Given the description of an element on the screen output the (x, y) to click on. 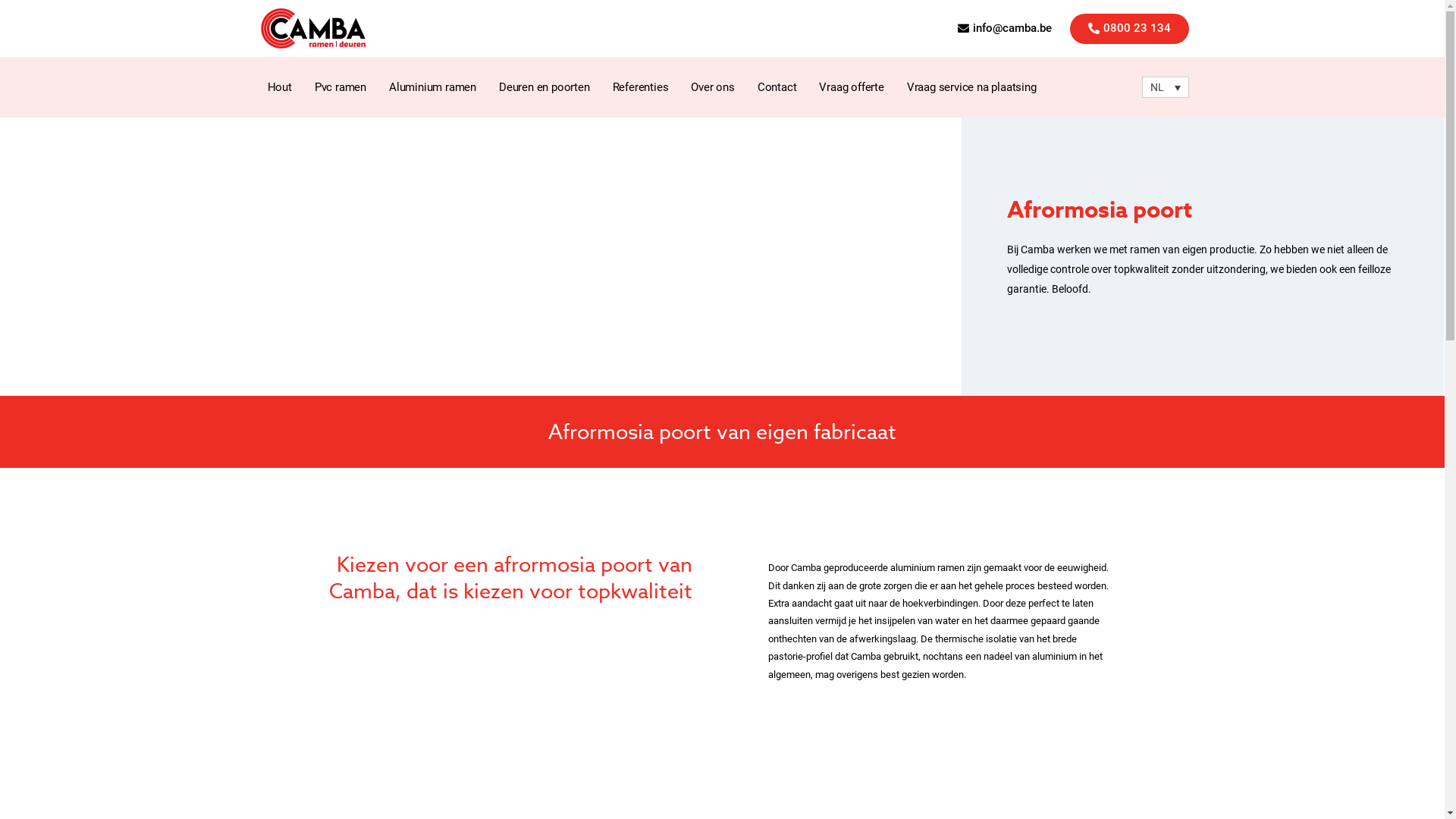
Over ons Element type: text (712, 86)
Vraag offerte Element type: text (850, 86)
0800 23 134 Element type: text (1128, 28)
Contact Element type: text (777, 86)
Hout Element type: text (279, 86)
Vraag service na plaatsing Element type: text (971, 86)
NL Element type: text (1165, 86)
Deuren en poorten Element type: text (544, 86)
Aluminium ramen Element type: text (432, 86)
Referenties Element type: text (640, 86)
info@camba.be Element type: text (1003, 28)
logo-camba-1 Element type: hover (313, 28)
Pvc ramen Element type: text (340, 86)
